Given the description of an element on the screen output the (x, y) to click on. 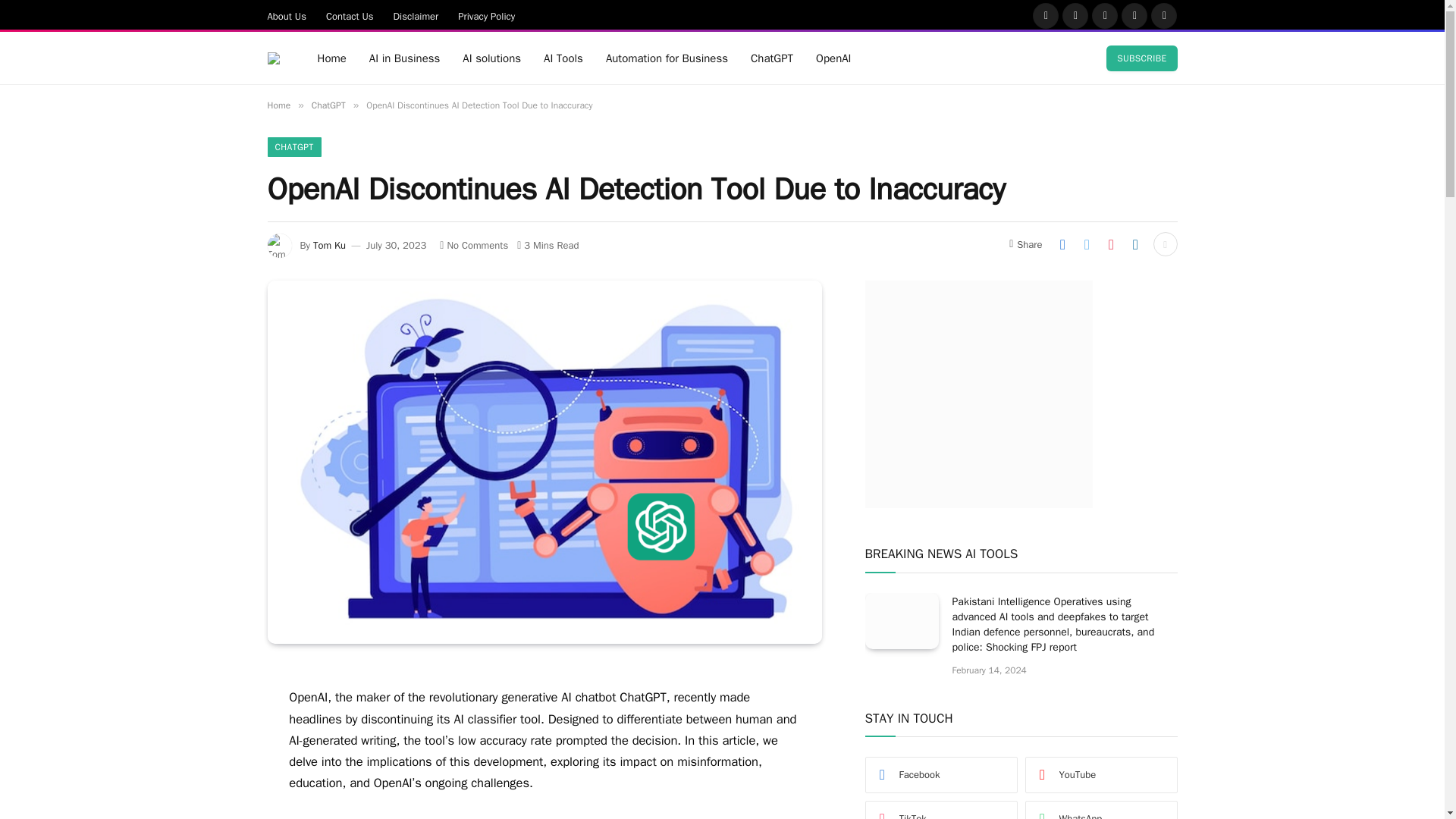
Home (331, 57)
Privacy Policy (486, 15)
Contact Us (349, 15)
Share on LinkedIn (1135, 243)
AI Tools (563, 57)
Vimeo (1163, 15)
Instagram (1105, 15)
Disclaimer (416, 15)
Pinterest (1134, 15)
Posts by Tom Ku (329, 245)
